Given the description of an element on the screen output the (x, y) to click on. 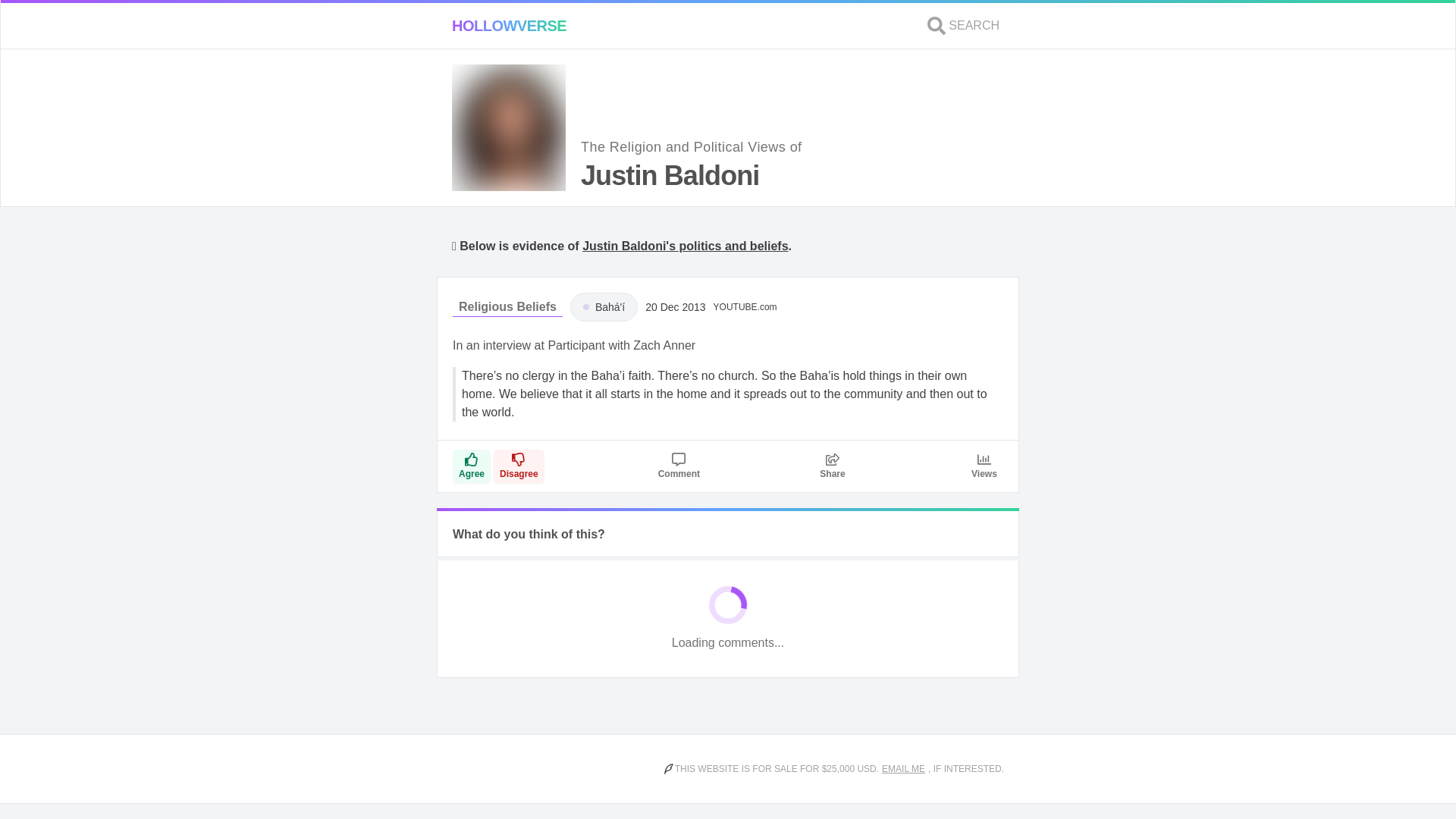
Agree (471, 466)
Disagree (518, 466)
YOUTUBE.com (745, 306)
Share (832, 466)
Comment (679, 466)
EMAIL ME (903, 769)
Justin Baldoni's Religious Beliefs (507, 307)
SEARCH (963, 25)
HOLLOWVERSE (508, 25)
Views (984, 466)
